Given the description of an element on the screen output the (x, y) to click on. 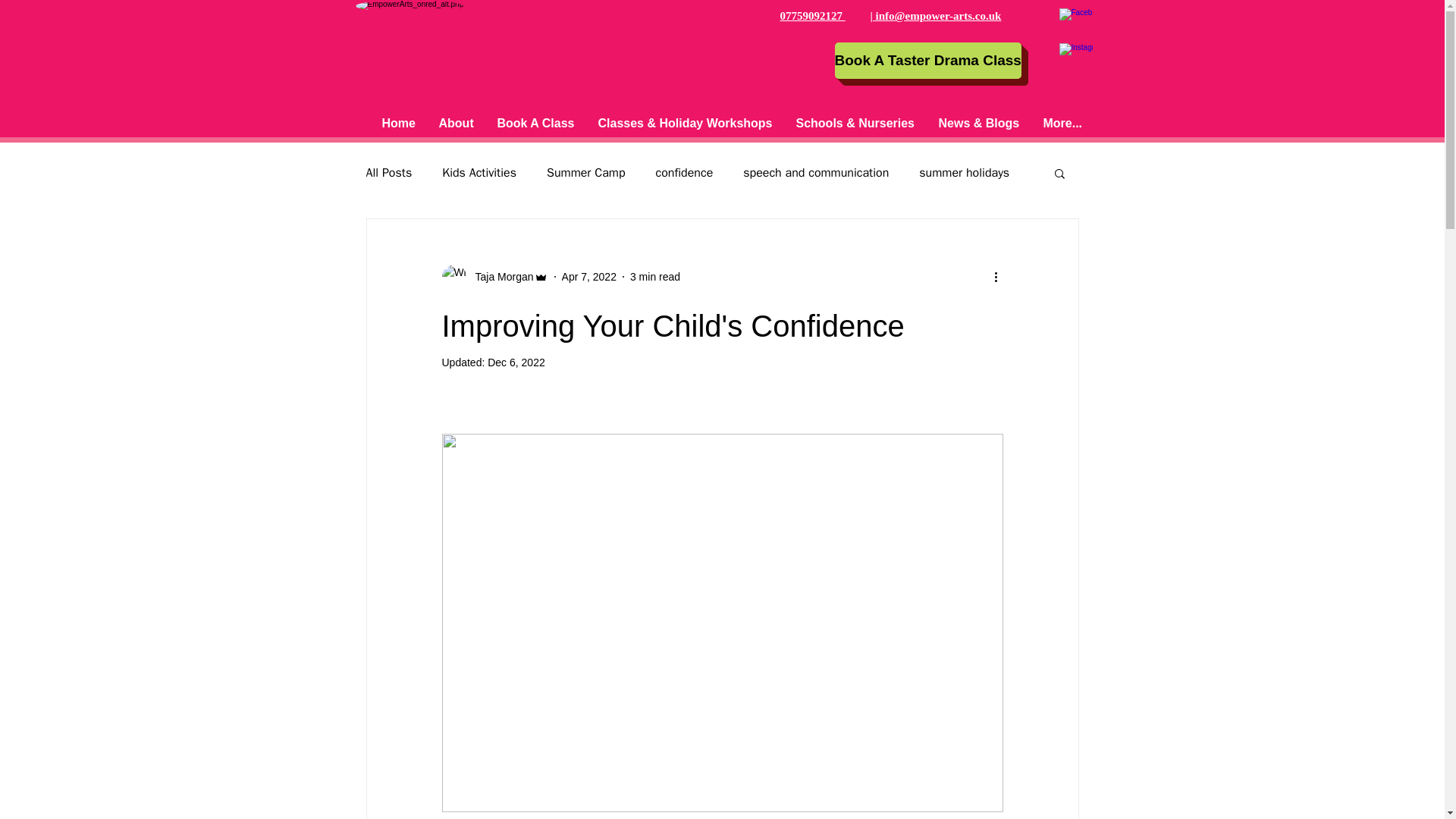
confidence (684, 172)
Book A Taster Drama Class (927, 60)
Kids Activities (479, 172)
All Posts (388, 172)
ESA-7.png (416, 61)
Taja Morgan (498, 276)
Summer Camp (586, 172)
07759092127  (811, 15)
About (456, 123)
speech and communication (815, 172)
